Given the description of an element on the screen output the (x, y) to click on. 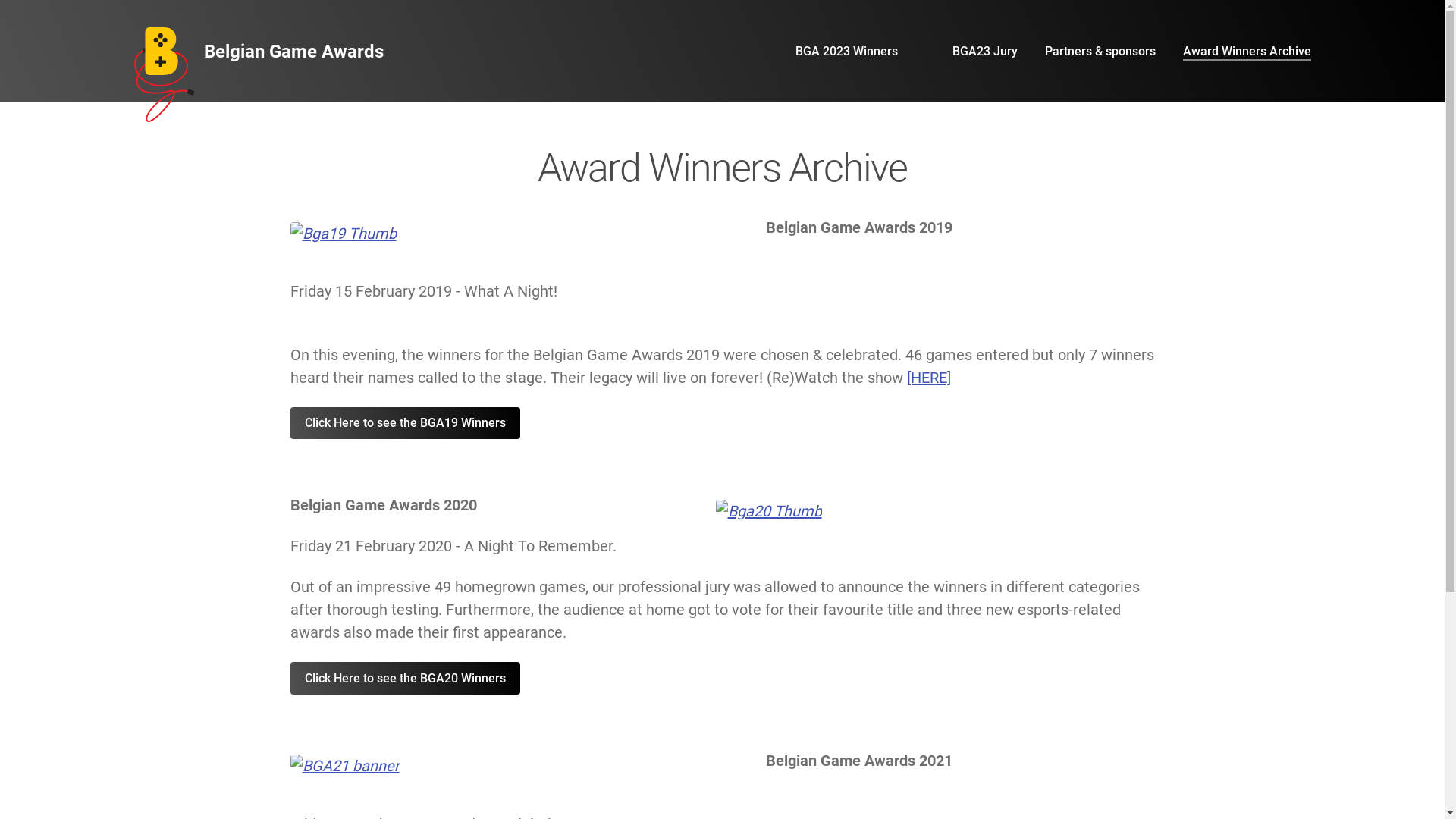
Click Here to see the BGA20 Winners Element type: text (404, 677)
[HERE] Element type: text (928, 377)
BGA23 Jury Element type: text (984, 51)
Award Winners Archive Element type: text (1247, 51)
BGA 2023 Winners Element type: text (845, 51)
Belgian Game Awards Element type: text (257, 51)
Click Here to see the BGA19 Winners Element type: text (404, 423)
Partners & sponsors Element type: text (1099, 51)
